Given the description of an element on the screen output the (x, y) to click on. 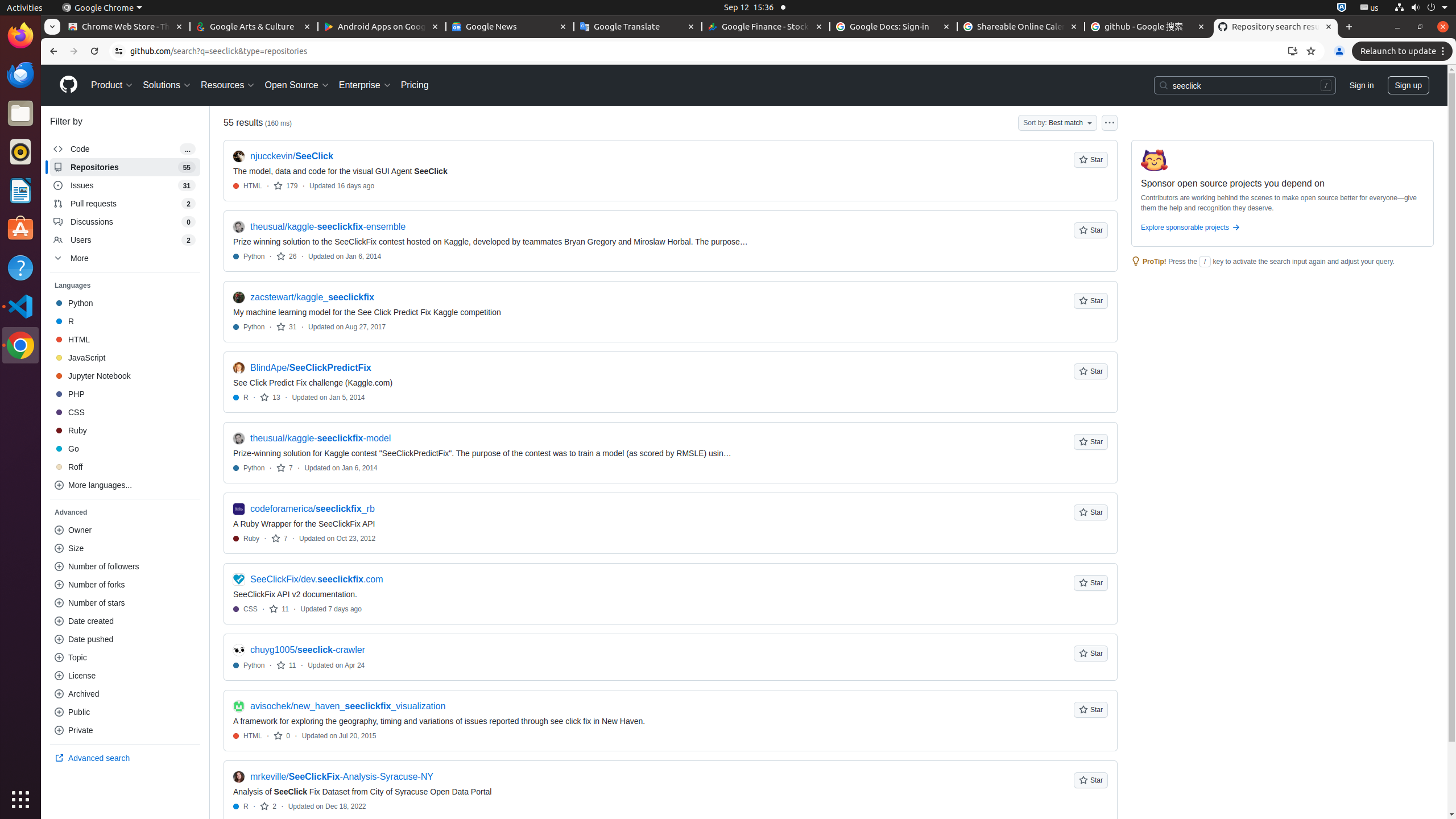
More Element type: list-item (125, 258)
‎R‎ Element type: link (125, 321)
11 stars Element type: link (278, 608)
Sign in Element type: link (1361, 85)
Thunderbird Mail Element type: push-button (20, 74)
